Given the description of an element on the screen output the (x, y) to click on. 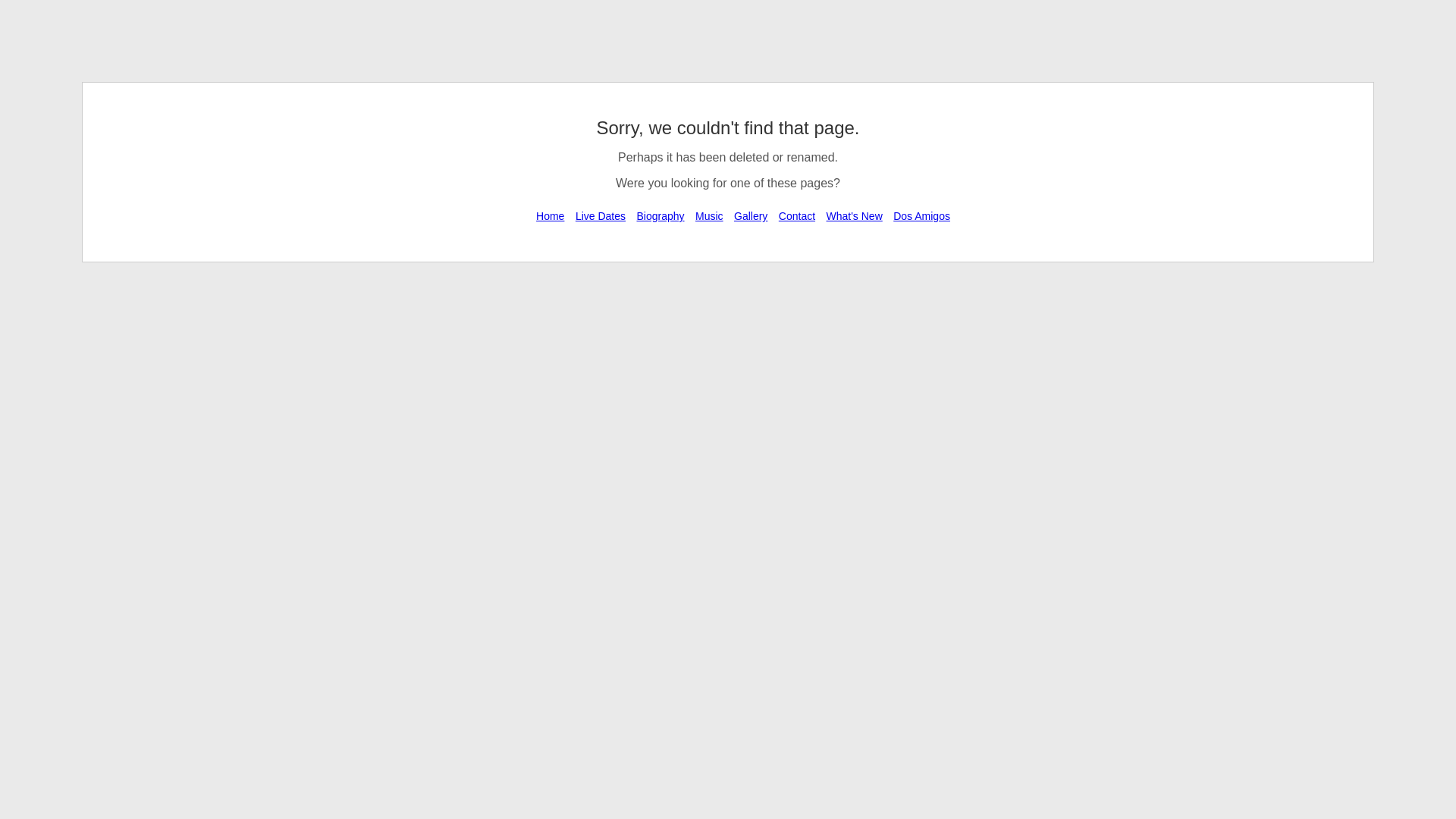
Dos Amigos (921, 215)
Music (708, 215)
Contact (796, 215)
What's New (854, 215)
Gallery (750, 215)
Live Dates (600, 215)
Biography (659, 215)
Home (549, 215)
